Given the description of an element on the screen output the (x, y) to click on. 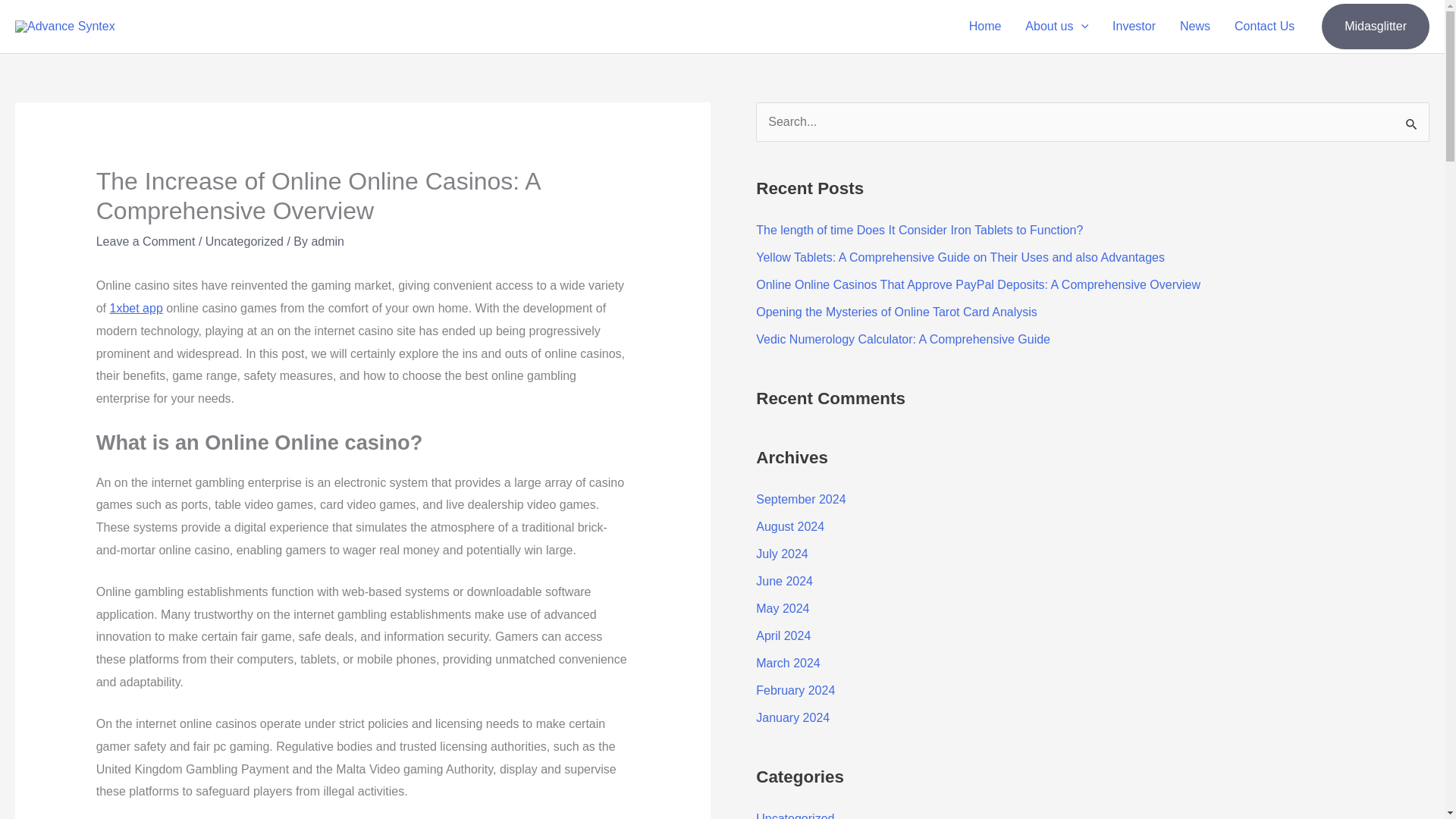
Home (984, 26)
About us (1056, 26)
Leave a Comment (145, 241)
Investor (1133, 26)
News (1195, 26)
Contact Us (1264, 26)
Uncategorized (244, 241)
